Given the description of an element on the screen output the (x, y) to click on. 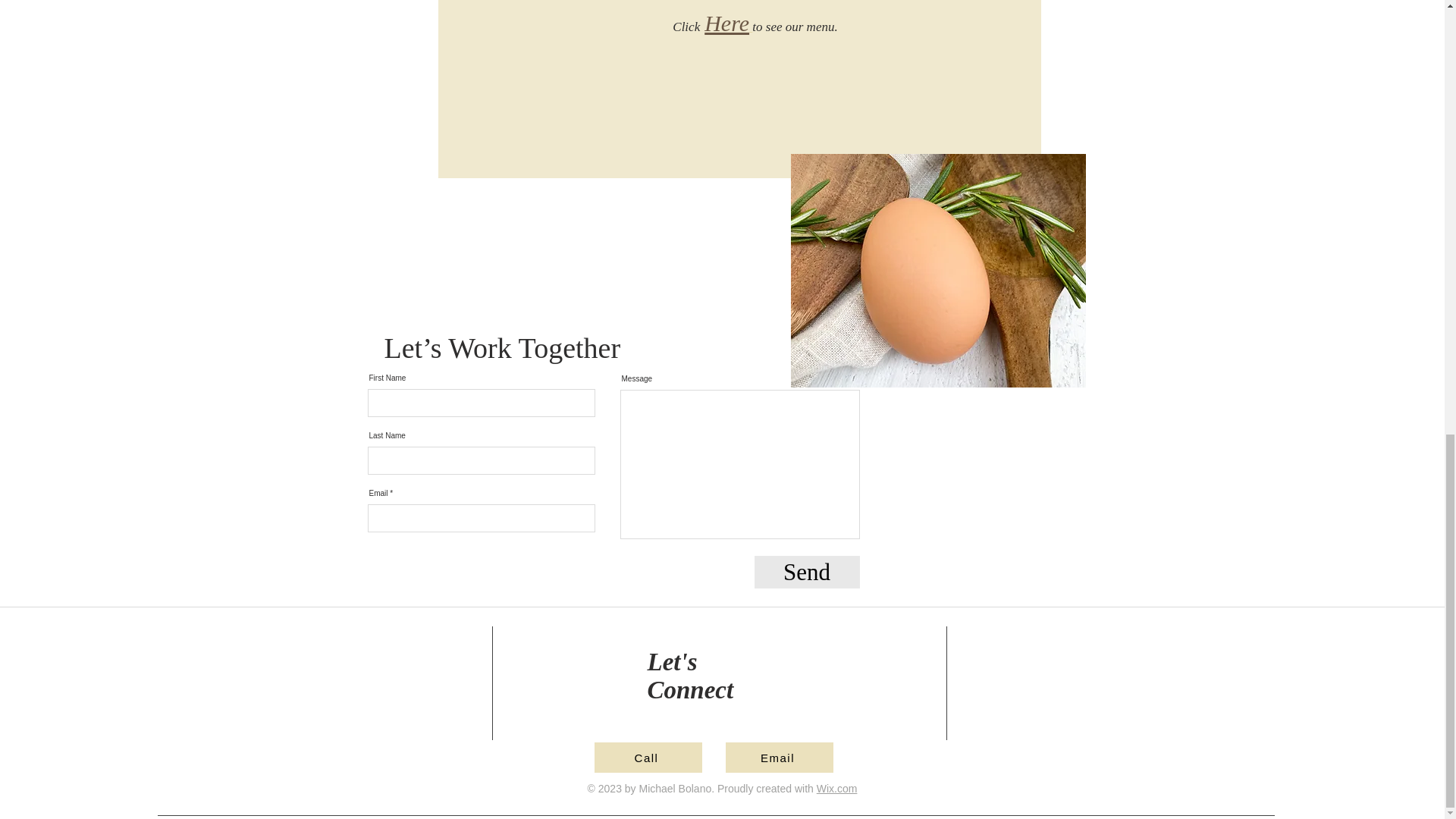
Wix.com (836, 788)
Here (728, 26)
Send (806, 572)
Email (778, 757)
Call (647, 757)
